Given the description of an element on the screen output the (x, y) to click on. 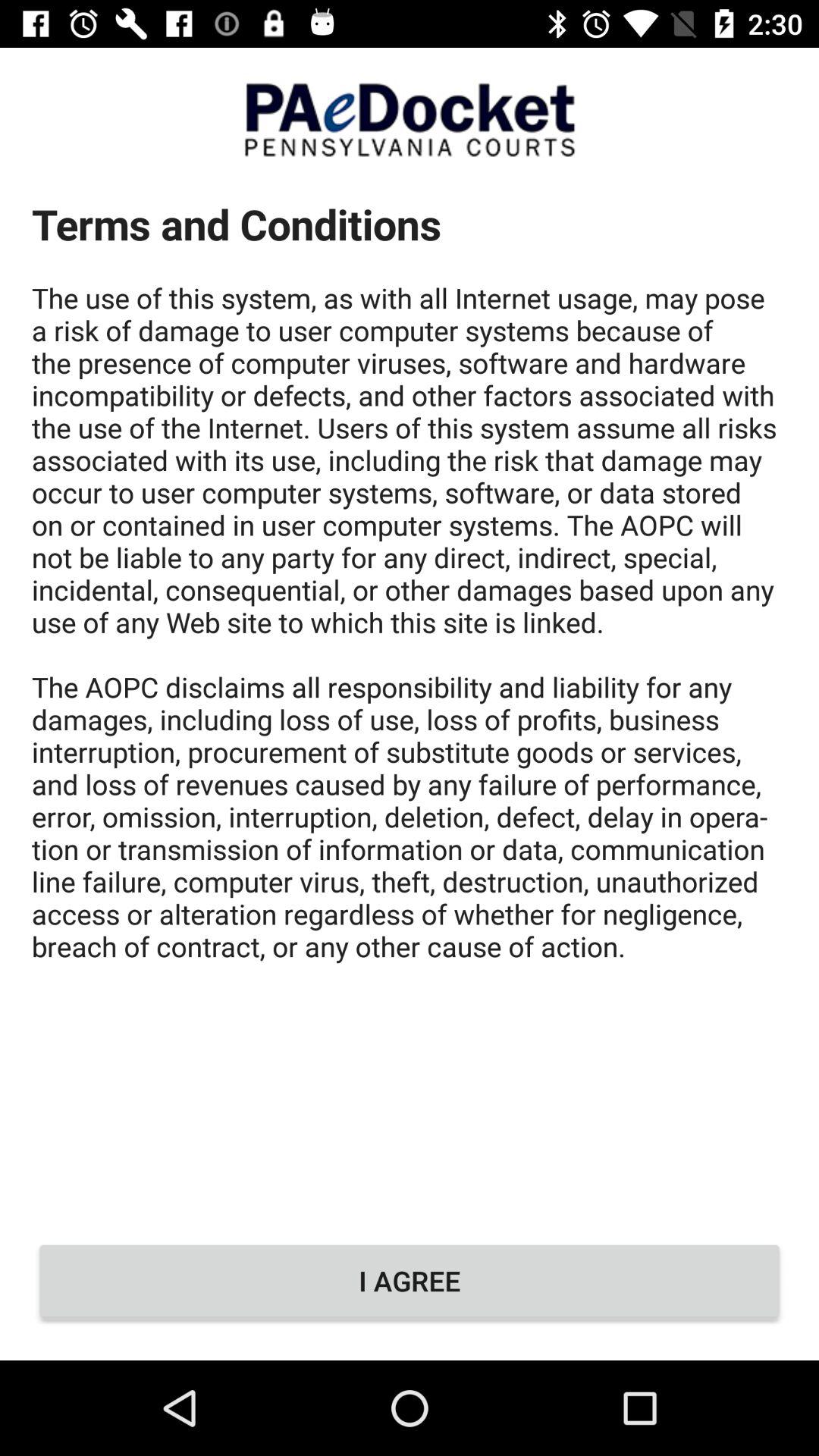
press the terms and conditions icon (409, 696)
